Given the description of an element on the screen output the (x, y) to click on. 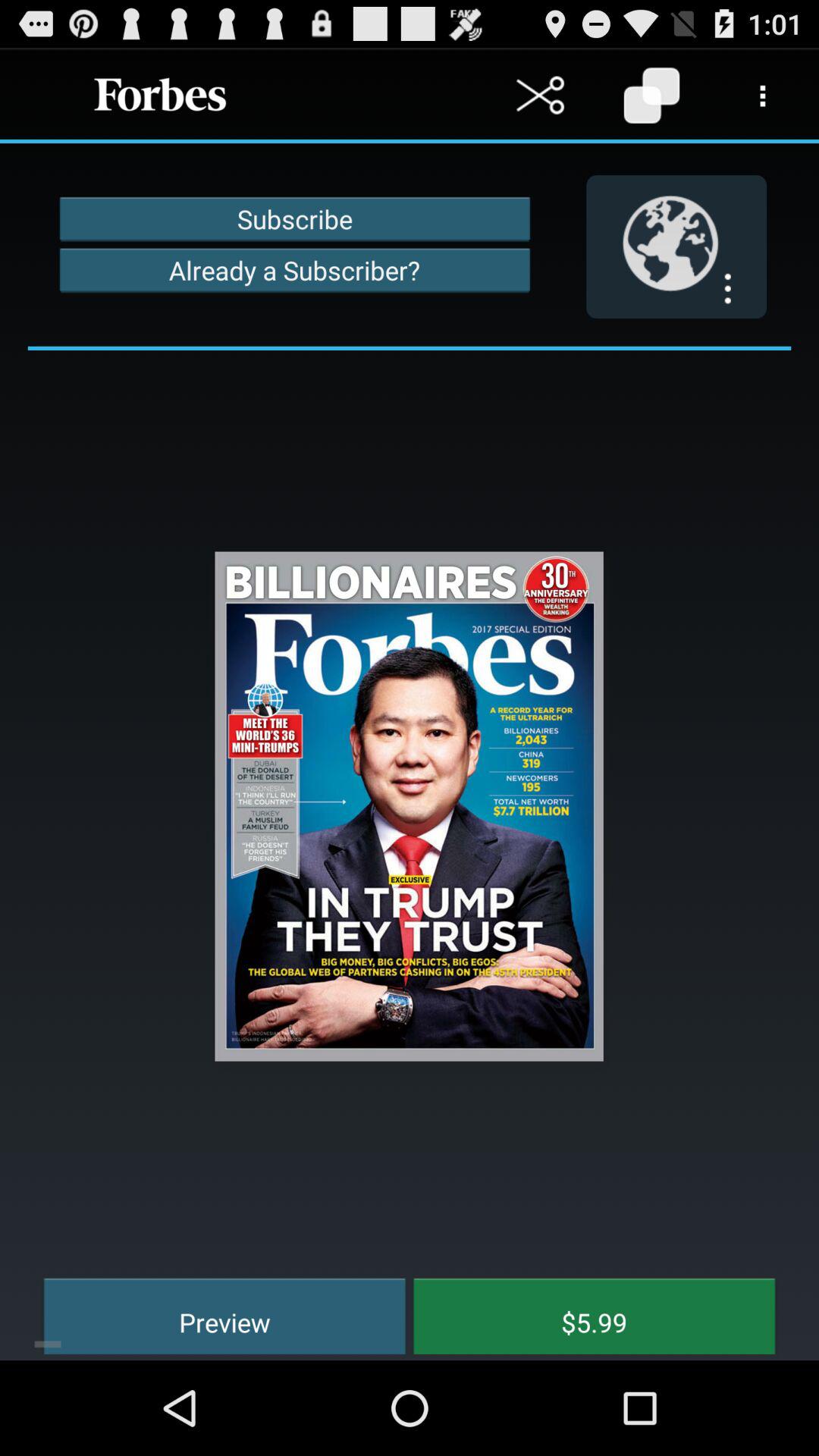
press the item next to the preview icon (583, 1314)
